Given the description of an element on the screen output the (x, y) to click on. 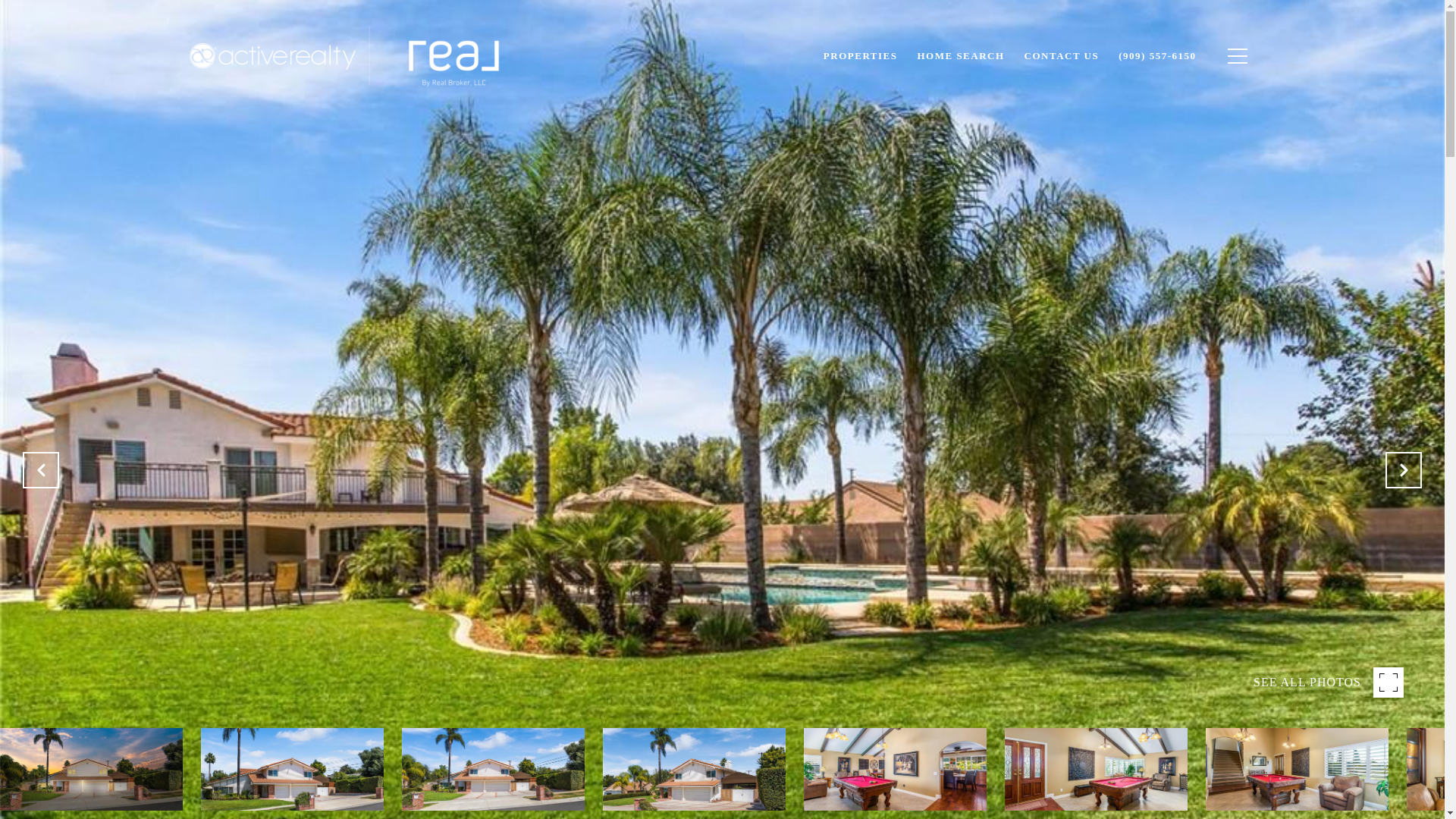
PROPERTIES (860, 55)
HOME SEARCH (960, 55)
CONTACT US (1061, 55)
